Given the description of an element on the screen output the (x, y) to click on. 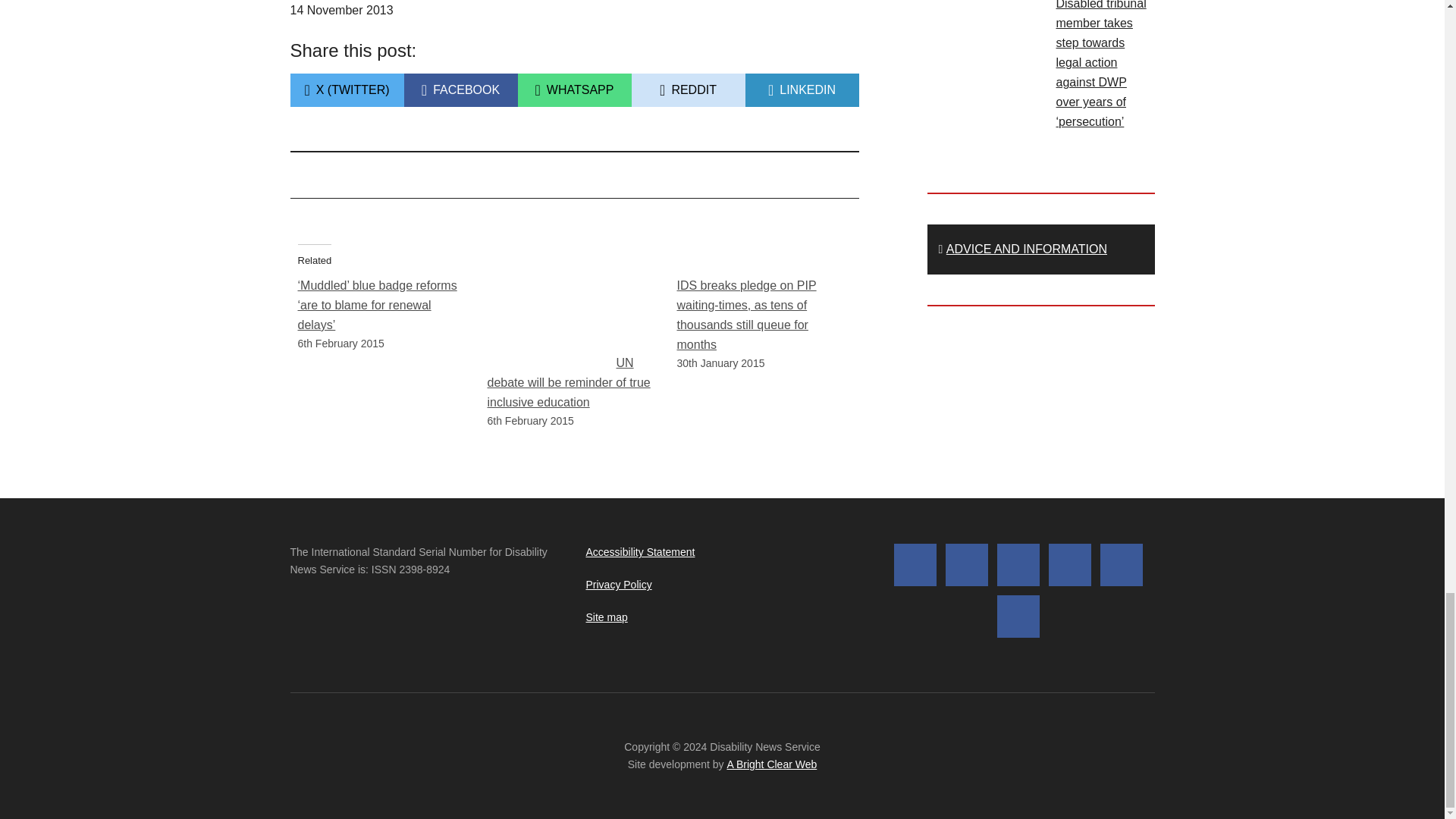
UN debate will be reminder of true inclusive education (573, 90)
